Given the description of an element on the screen output the (x, y) to click on. 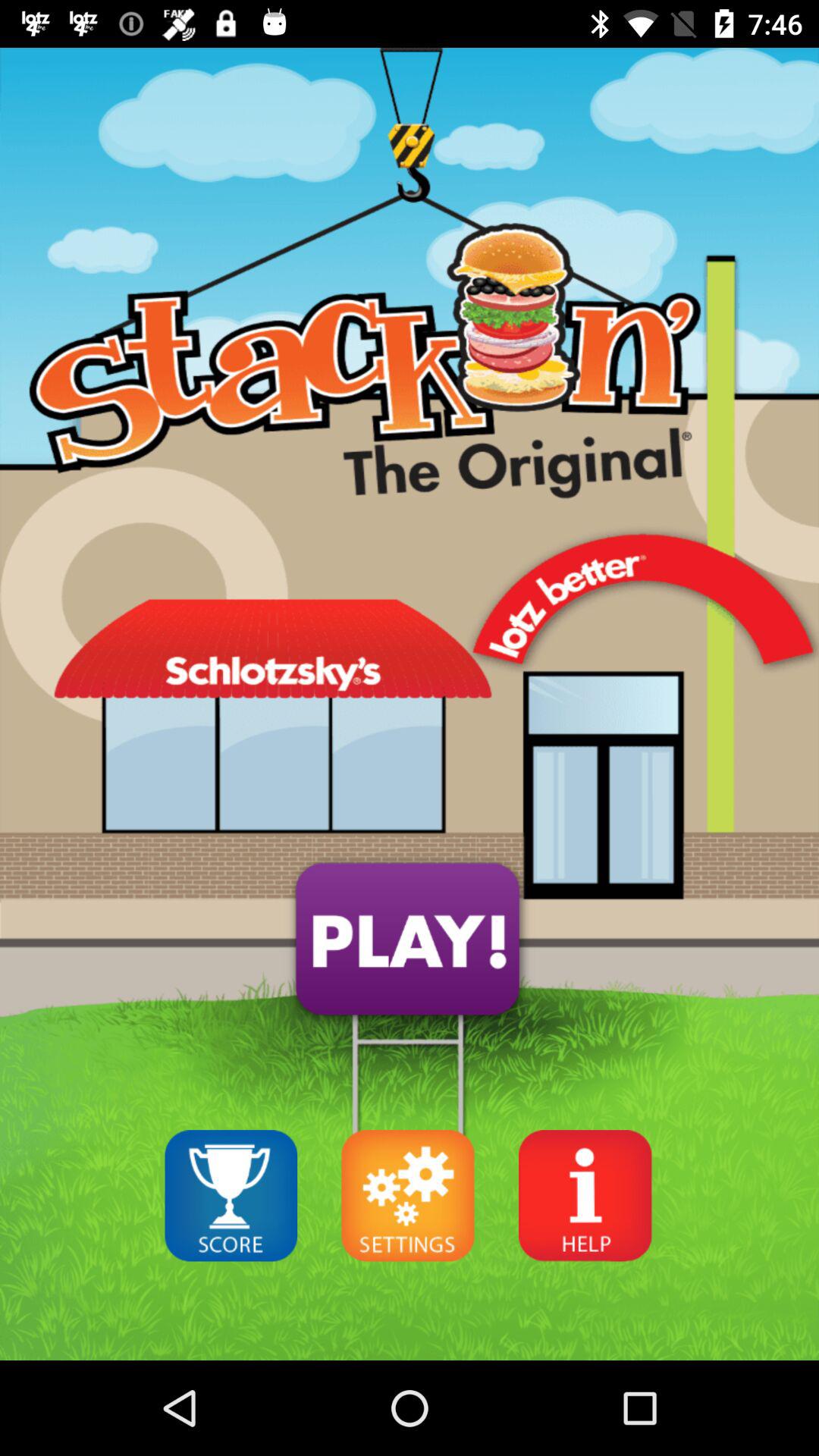
help box option (585, 1195)
